Given the description of an element on the screen output the (x, y) to click on. 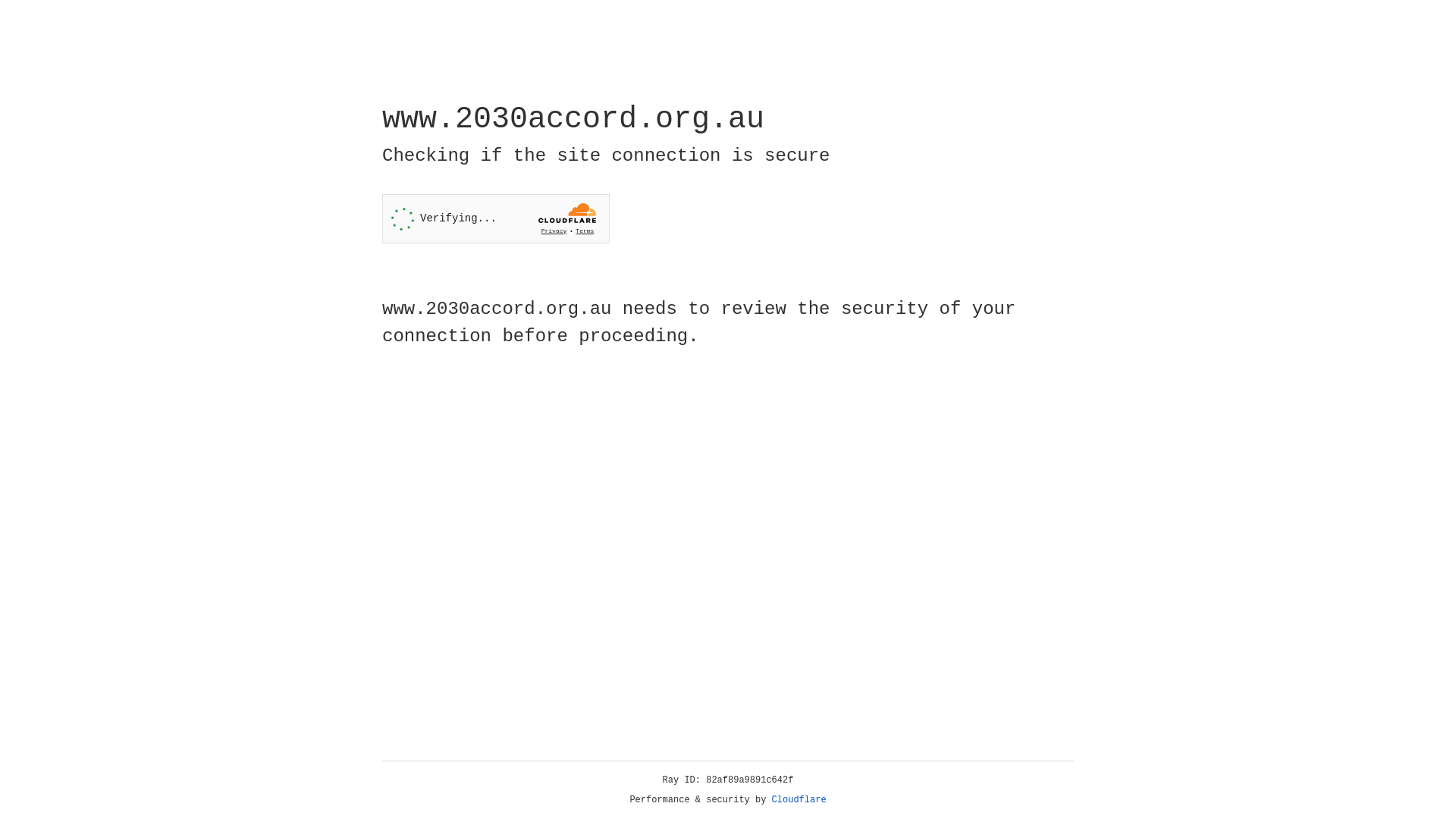
Cloudflare Element type: text (798, 799)
Widget containing a Cloudflare security challenge Element type: hover (495, 218)
